Given the description of an element on the screen output the (x, y) to click on. 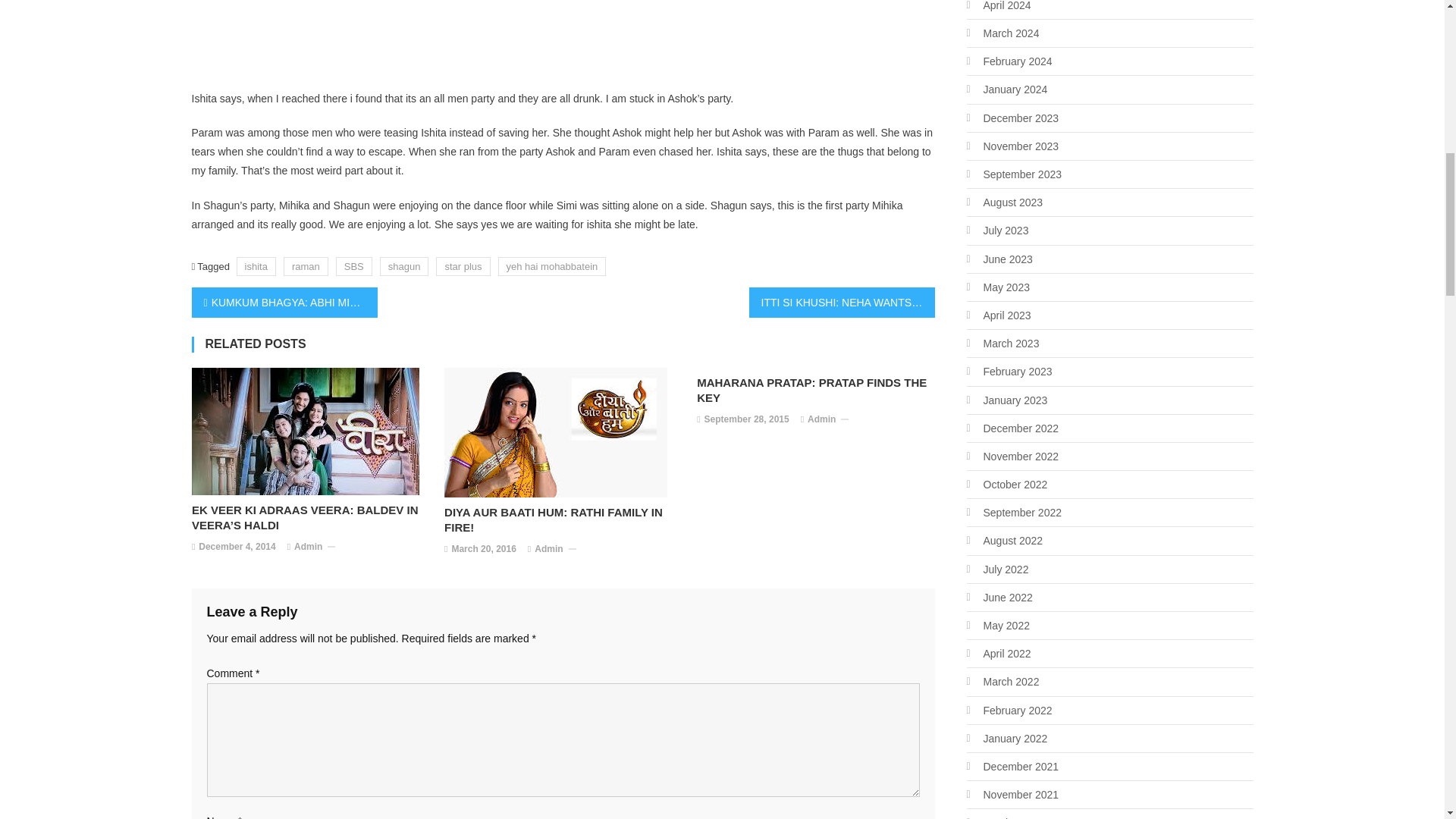
Admin (548, 549)
yeh hai mohabbatein (552, 266)
Admin (307, 547)
shagun (404, 266)
KUMKUM BHAGYA: ABHI MISUNDERSTANDS PRAGYA ONCE AGAIN (283, 302)
December 4, 2014 (236, 547)
Admin (821, 419)
ITTI SI KHUSHI: NEHA WANTS TO STUDY IN SCHOOL (841, 302)
DIYA AUR BAATI HUM: RATHI FAMILY IN FIRE! (562, 520)
ishita (255, 266)
